Given the description of an element on the screen output the (x, y) to click on. 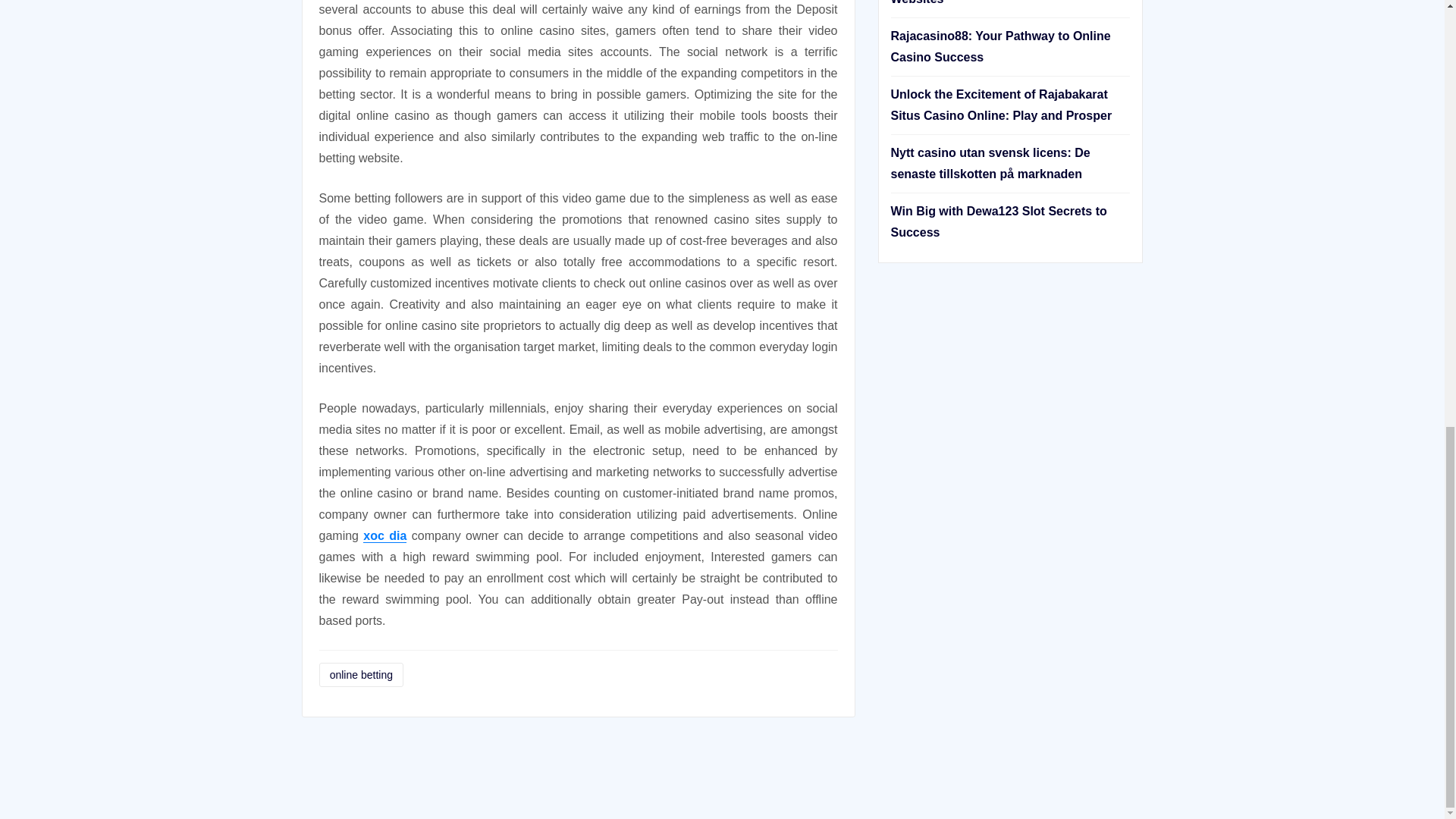
Win Big with Dewa123 Slot Secrets to Success (997, 221)
xoc dia (384, 535)
online betting (360, 674)
Direct Access to the Best AMB Slots Websites (994, 2)
Rajacasino88: Your Pathway to Online Casino Success (999, 46)
